Given the description of an element on the screen output the (x, y) to click on. 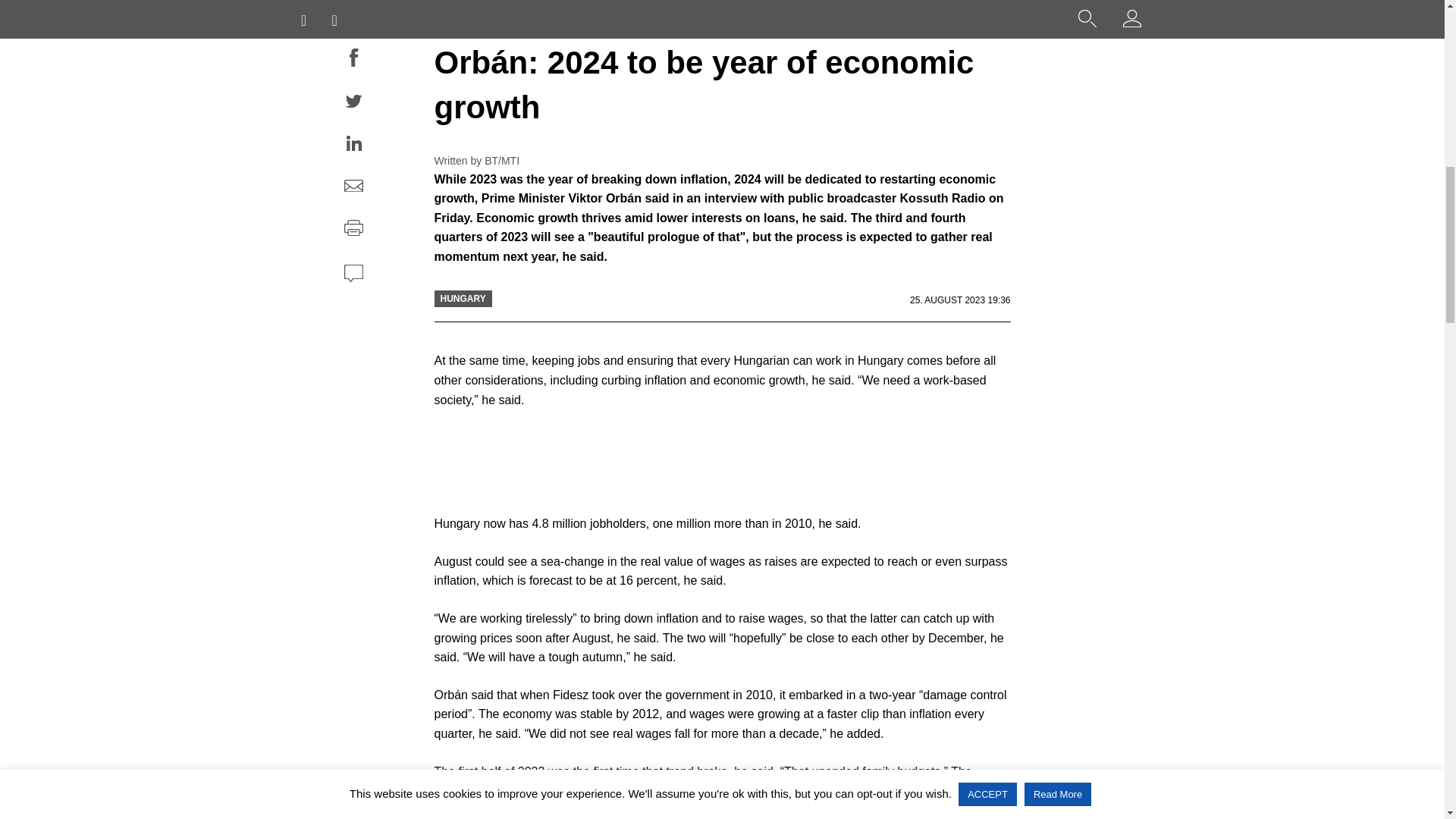
Print (352, 230)
Email (352, 188)
LinkedIn (352, 145)
Twitter (352, 104)
Facebook (352, 60)
